Given the description of an element on the screen output the (x, y) to click on. 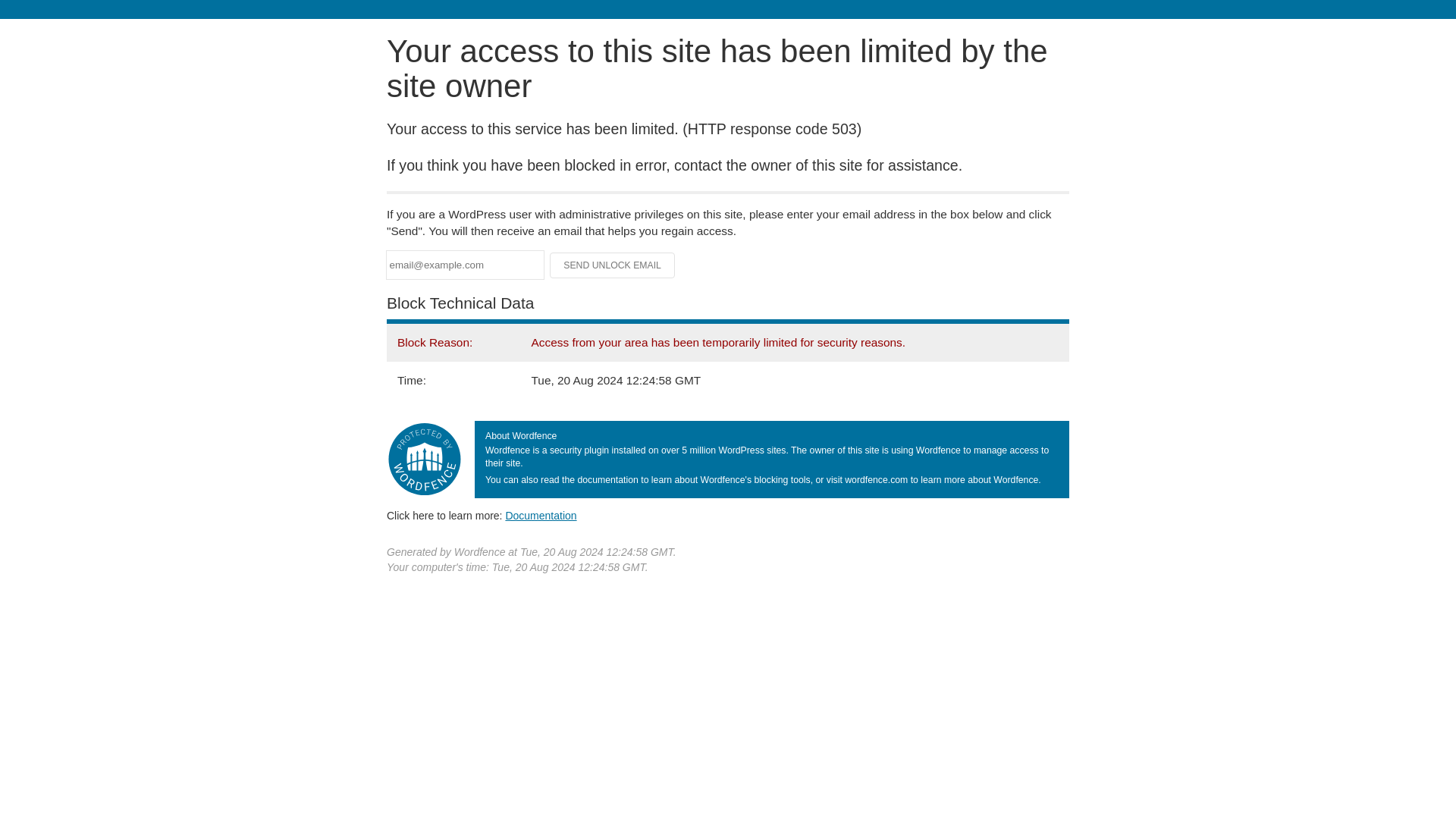
Send Unlock Email (612, 265)
Send Unlock Email (612, 265)
Documentation (540, 515)
